Given the description of an element on the screen output the (x, y) to click on. 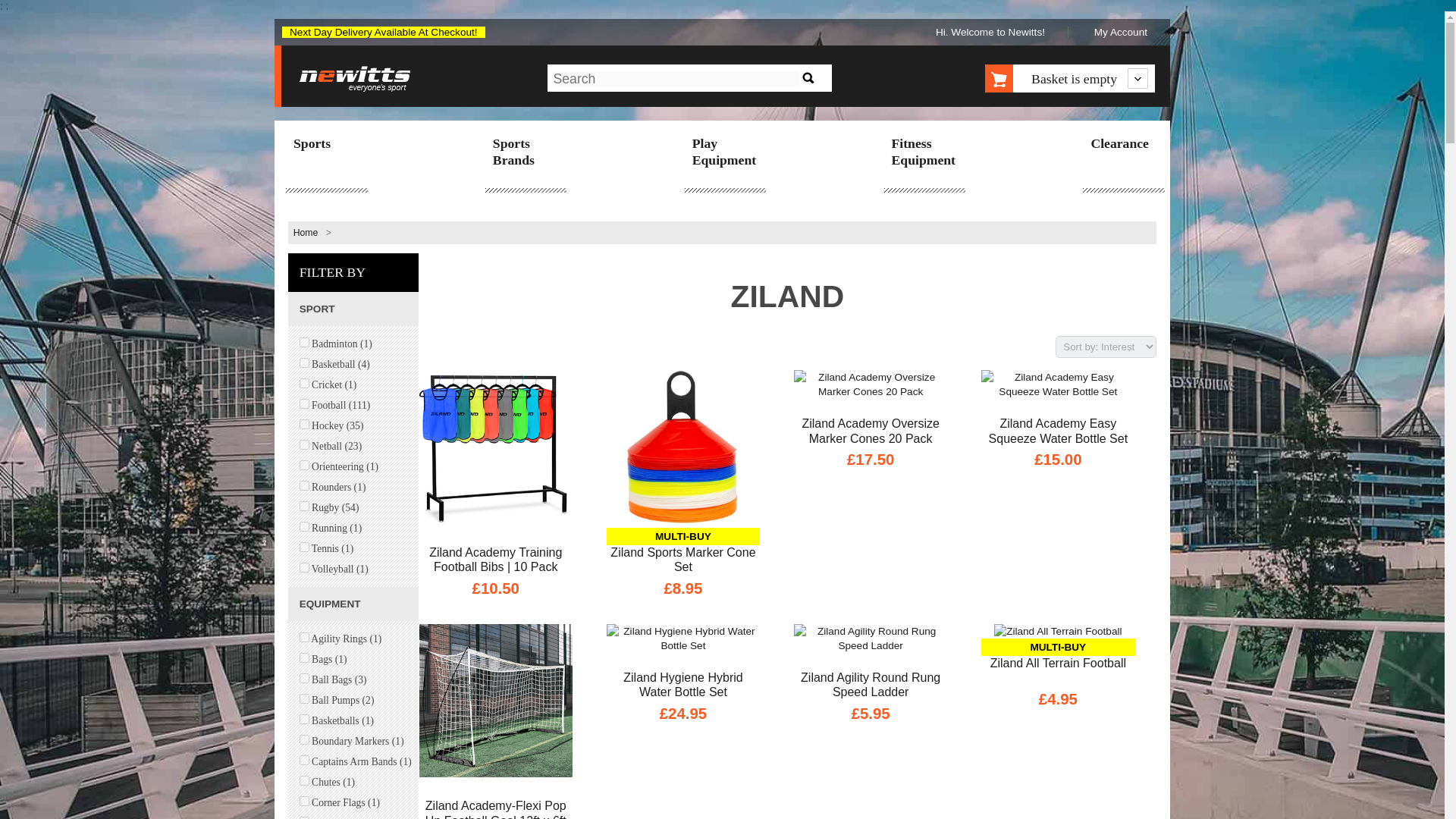
Basketballs (303, 718)
Fitness Equipment (923, 153)
Ziland Academy Easy Squeeze Water Bottle Set (1057, 430)
Ziland Sports Marker Cone Set (683, 559)
Rugby (303, 506)
Boundary Markers (303, 739)
Ziland Agility Round Rung Speed Ladder (870, 684)
Newitts - everyone's sport (355, 79)
Search (807, 77)
Ziland Academy-Flexi Pop Up Football Goal 12ft x 6ft (495, 808)
